Given the description of an element on the screen output the (x, y) to click on. 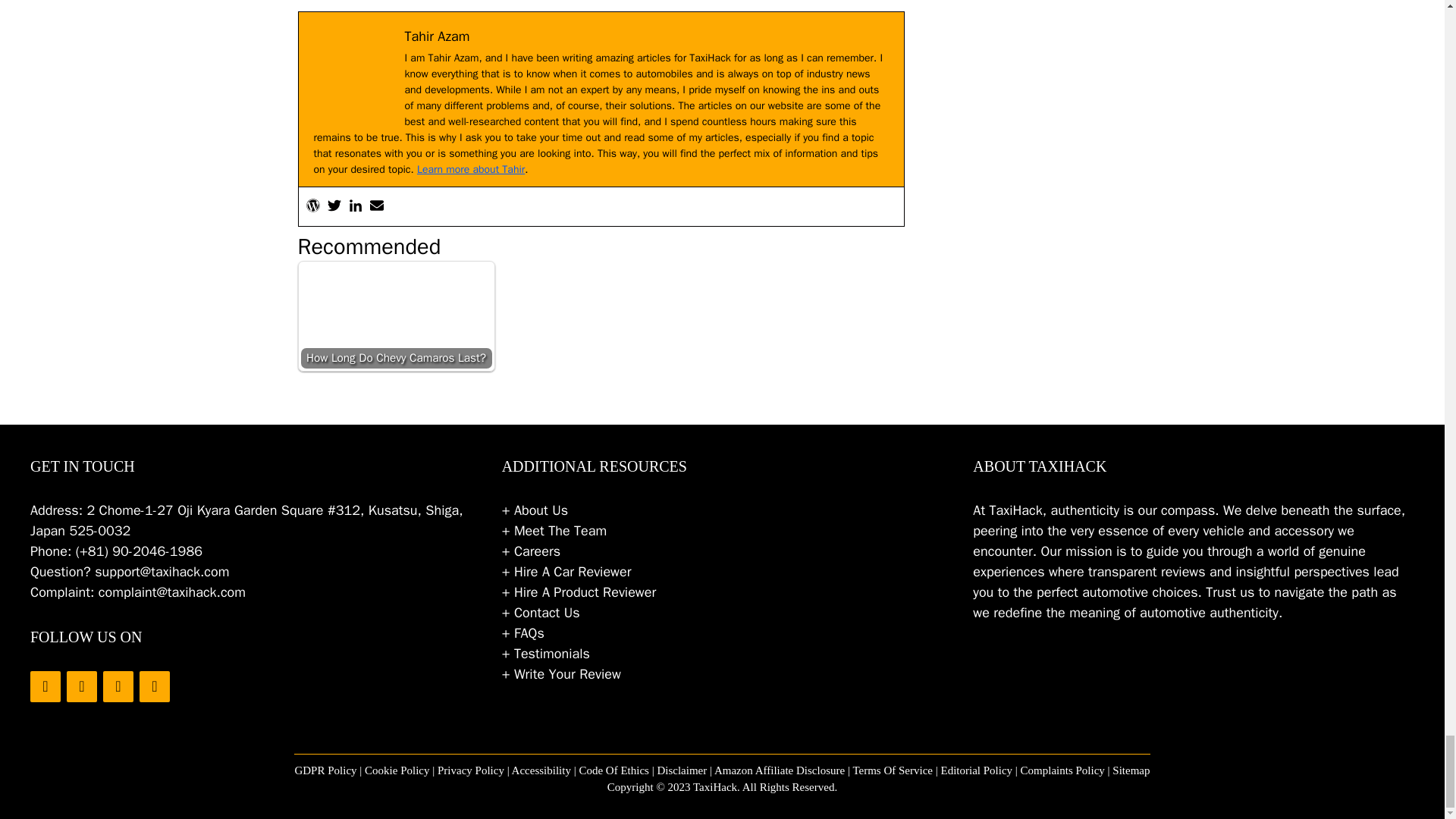
Facebook (45, 685)
LinkedIn (118, 685)
Twitter (81, 685)
How Long Do Chevy Camaros Last? (395, 327)
